Given the description of an element on the screen output the (x, y) to click on. 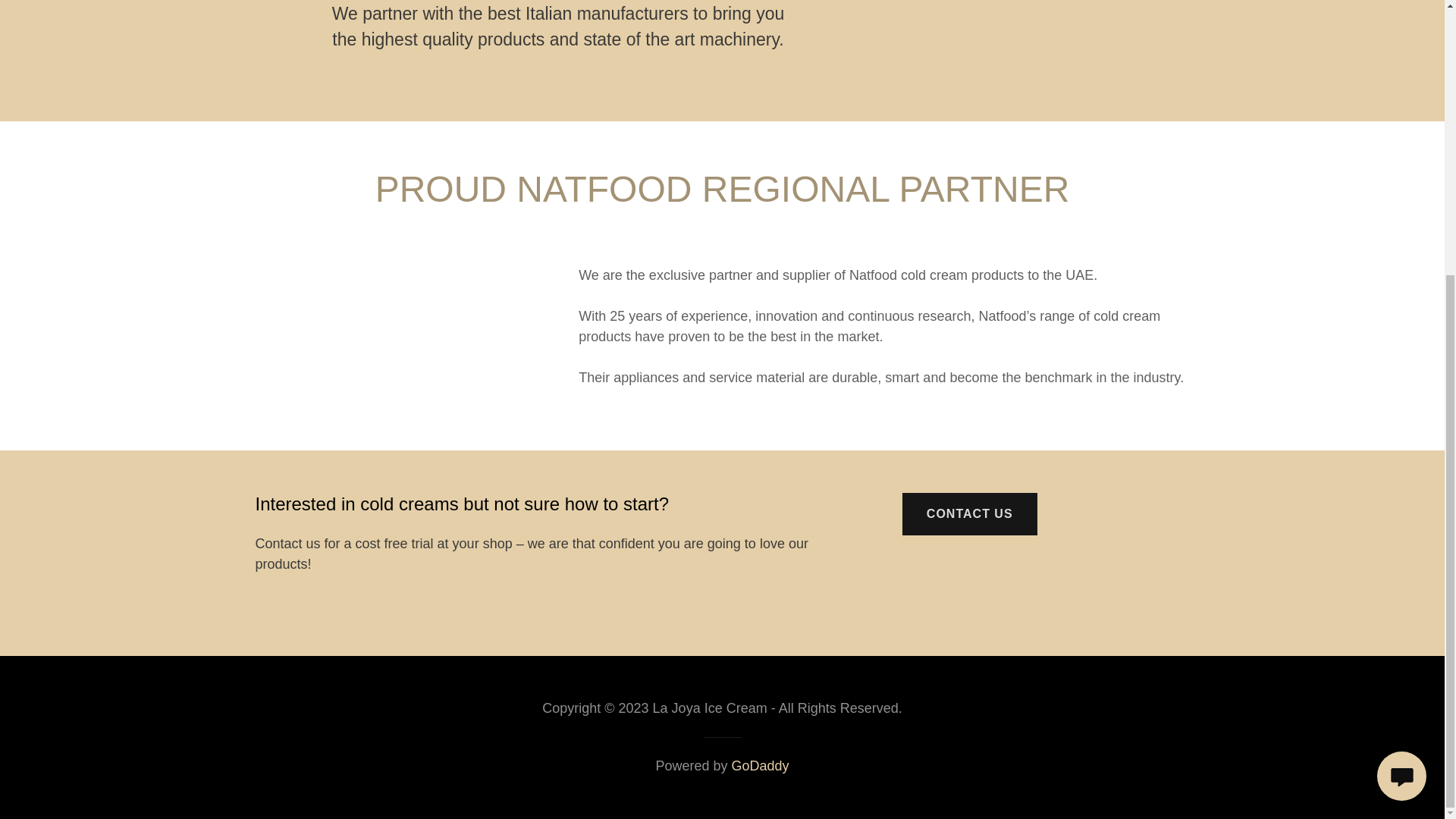
CONTACT US (969, 514)
GoDaddy (759, 765)
